Given the description of an element on the screen output the (x, y) to click on. 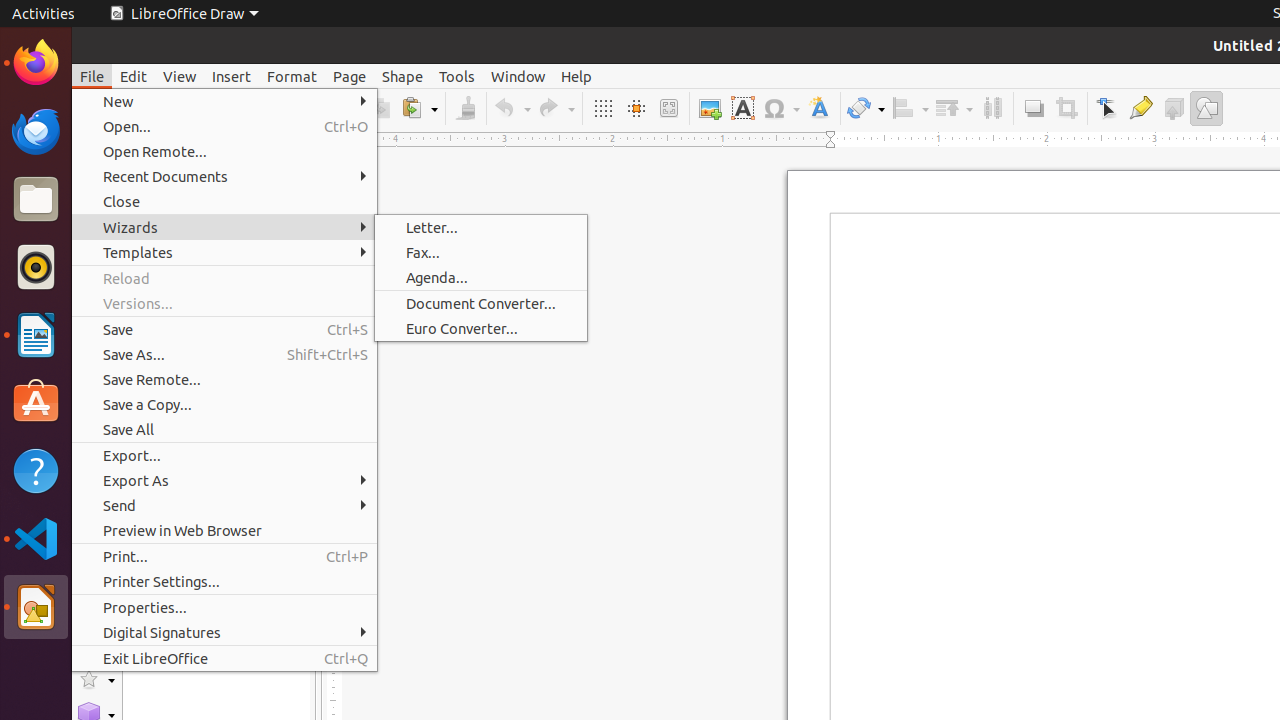
Preview in Web Browser Element type: menu-item (224, 530)
Format Element type: menu (292, 76)
LibreOffice Draw Element type: menu (183, 13)
Open... Element type: menu-item (224, 126)
Letter... Element type: menu-item (481, 227)
